Given the description of an element on the screen output the (x, y) to click on. 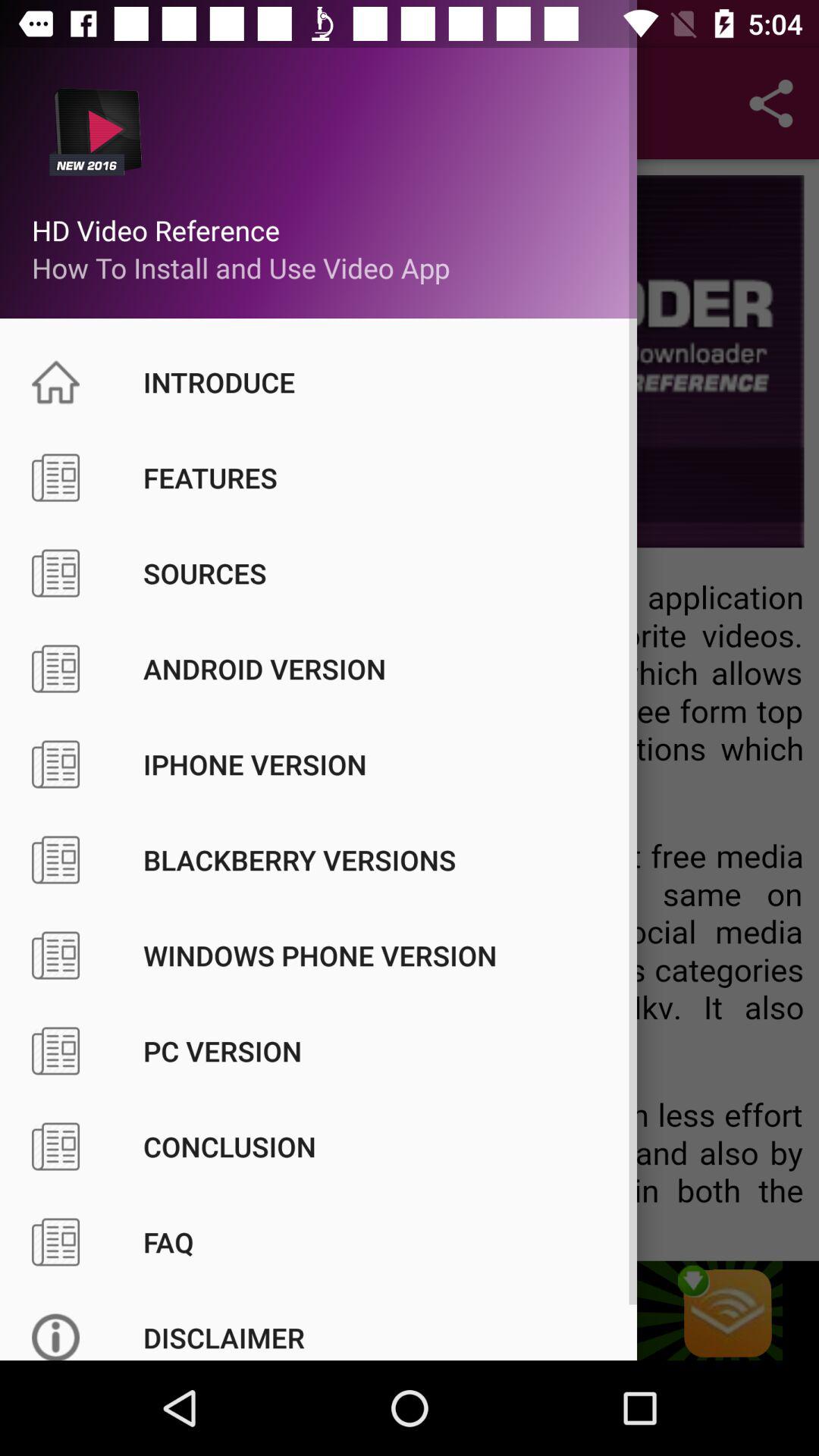
top left corner icon (84, 115)
click on share button (771, 103)
